Given the description of an element on the screen output the (x, y) to click on. 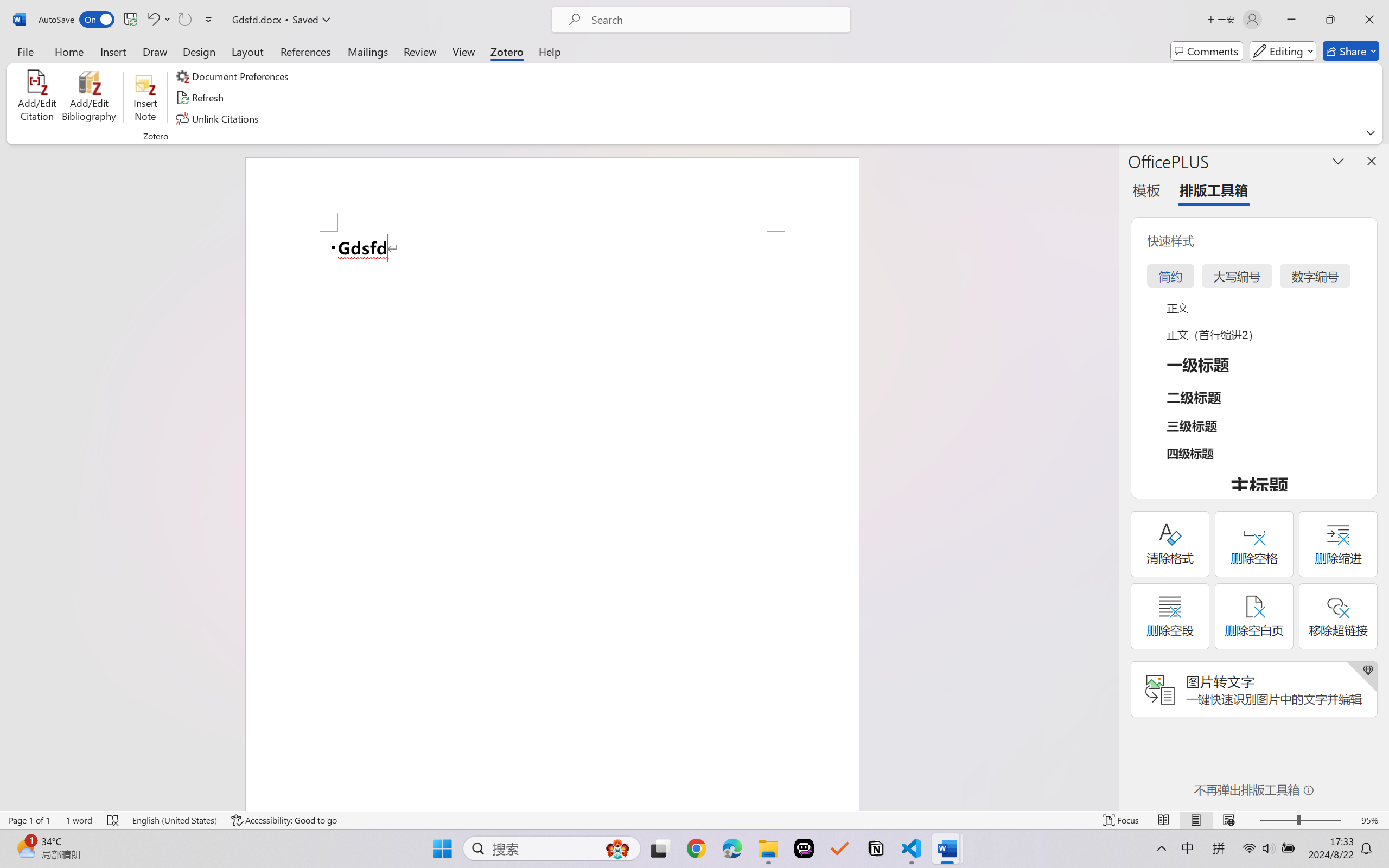
Undo <ApplyStyleToDoc>b__0 (158, 19)
